Given the description of an element on the screen output the (x, y) to click on. 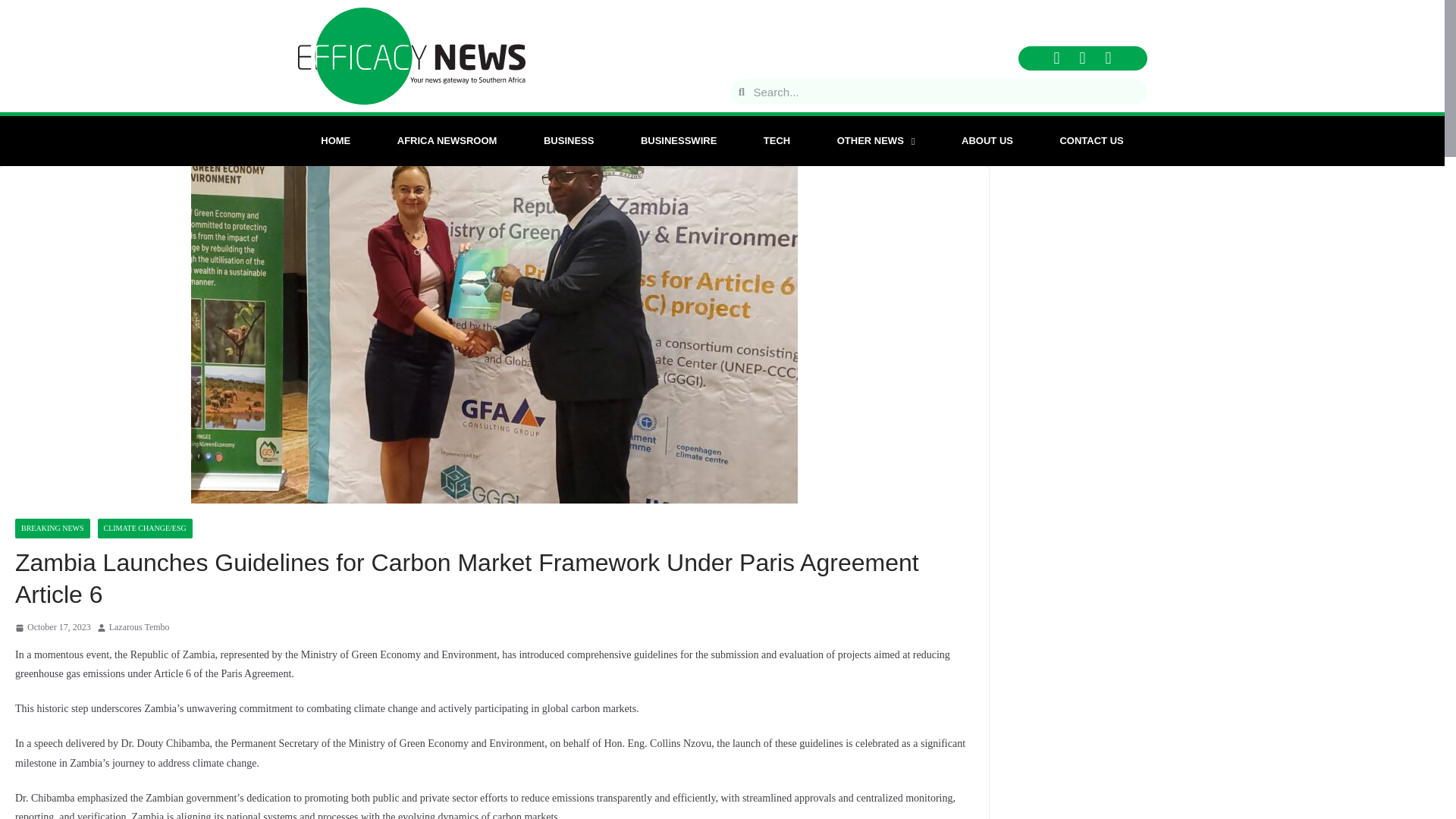
1:44 pm (52, 627)
TECH (776, 140)
HOME (335, 140)
OTHER NEWS (875, 140)
BUSINESS (568, 140)
AFRICA NEWSROOM (446, 140)
ABOUT US (986, 140)
Lazarous Tembo (139, 627)
BUSINESSWIRE (678, 140)
CONTACT US (1091, 140)
